Given the description of an element on the screen output the (x, y) to click on. 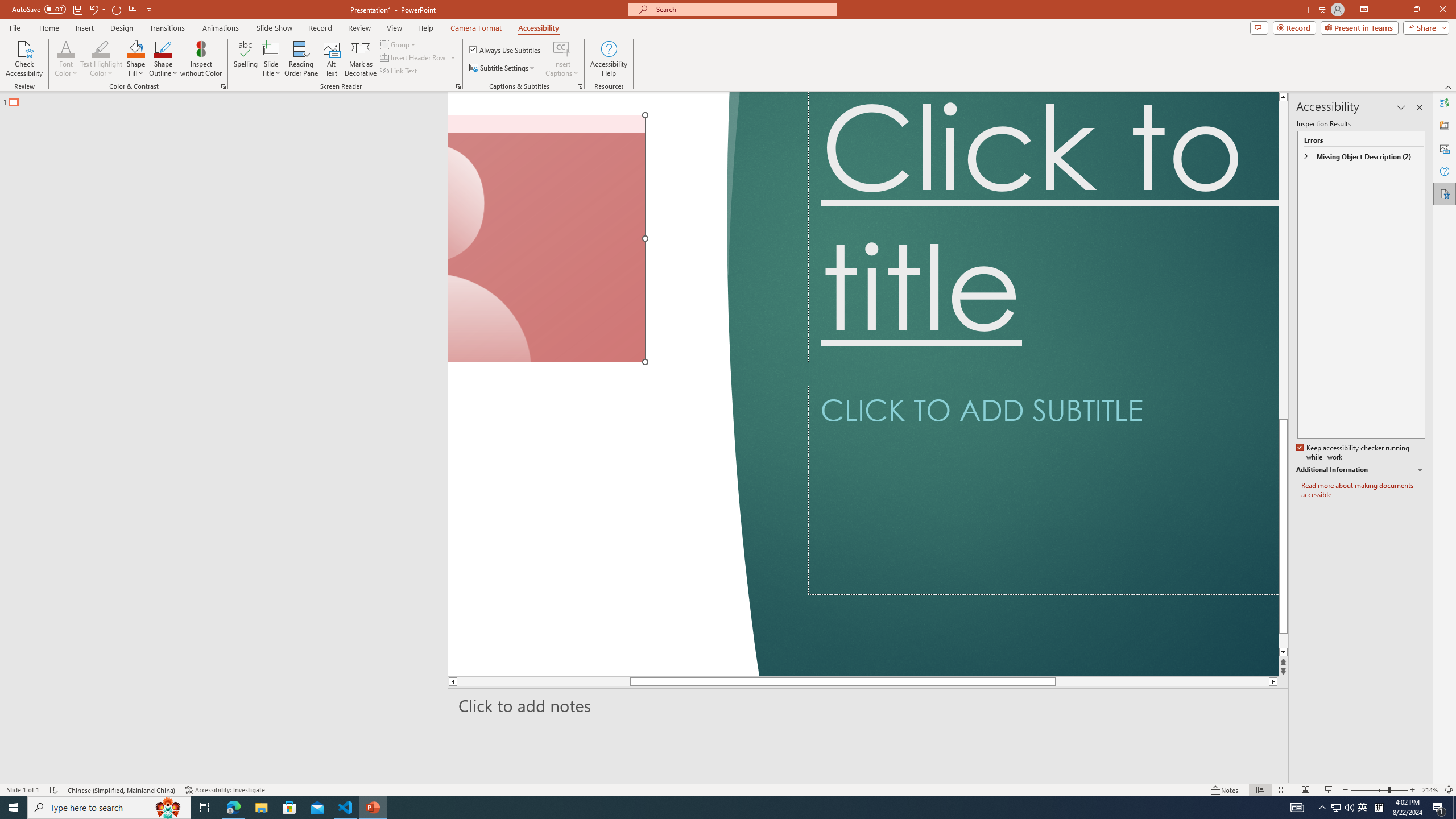
Accessibility Help (608, 58)
Camera 7, No camera detected. (546, 238)
Insert Captions (561, 58)
